Given the description of an element on the screen output the (x, y) to click on. 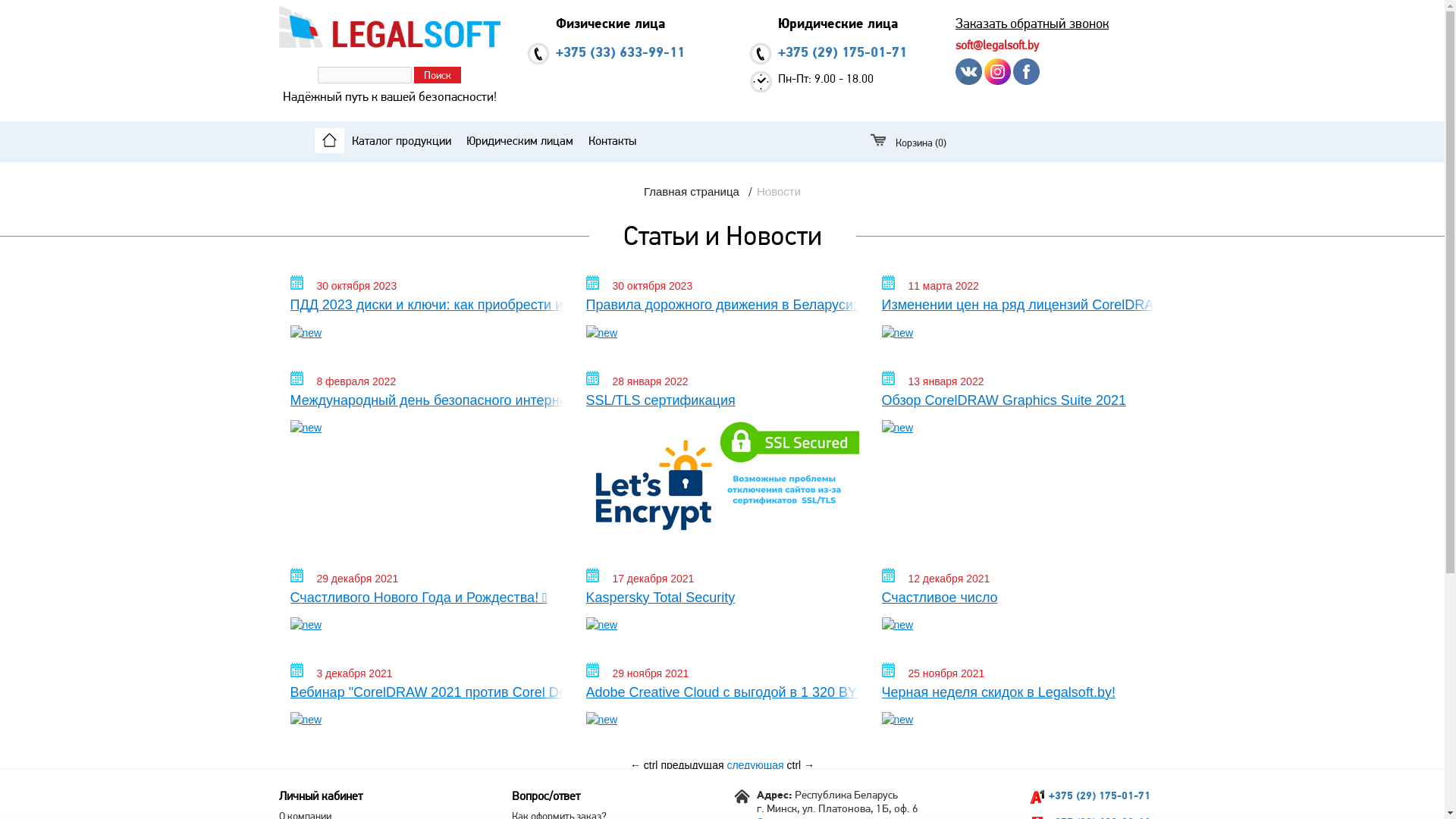
+375 (33) 633-99-11 Element type: text (619, 51)
2 Element type: text (735, 780)
6 Element type: text (774, 780)
soft@legalsoft.by Element type: text (996, 44)
+375 (29) 175-01-71 Element type: text (842, 51)
+375 (29) 175-01-71 Element type: text (1098, 795)
Kaspersky Total Security Element type: text (721, 610)
5 Element type: text (765, 780)
3 Element type: text (744, 780)
